Given the description of an element on the screen output the (x, y) to click on. 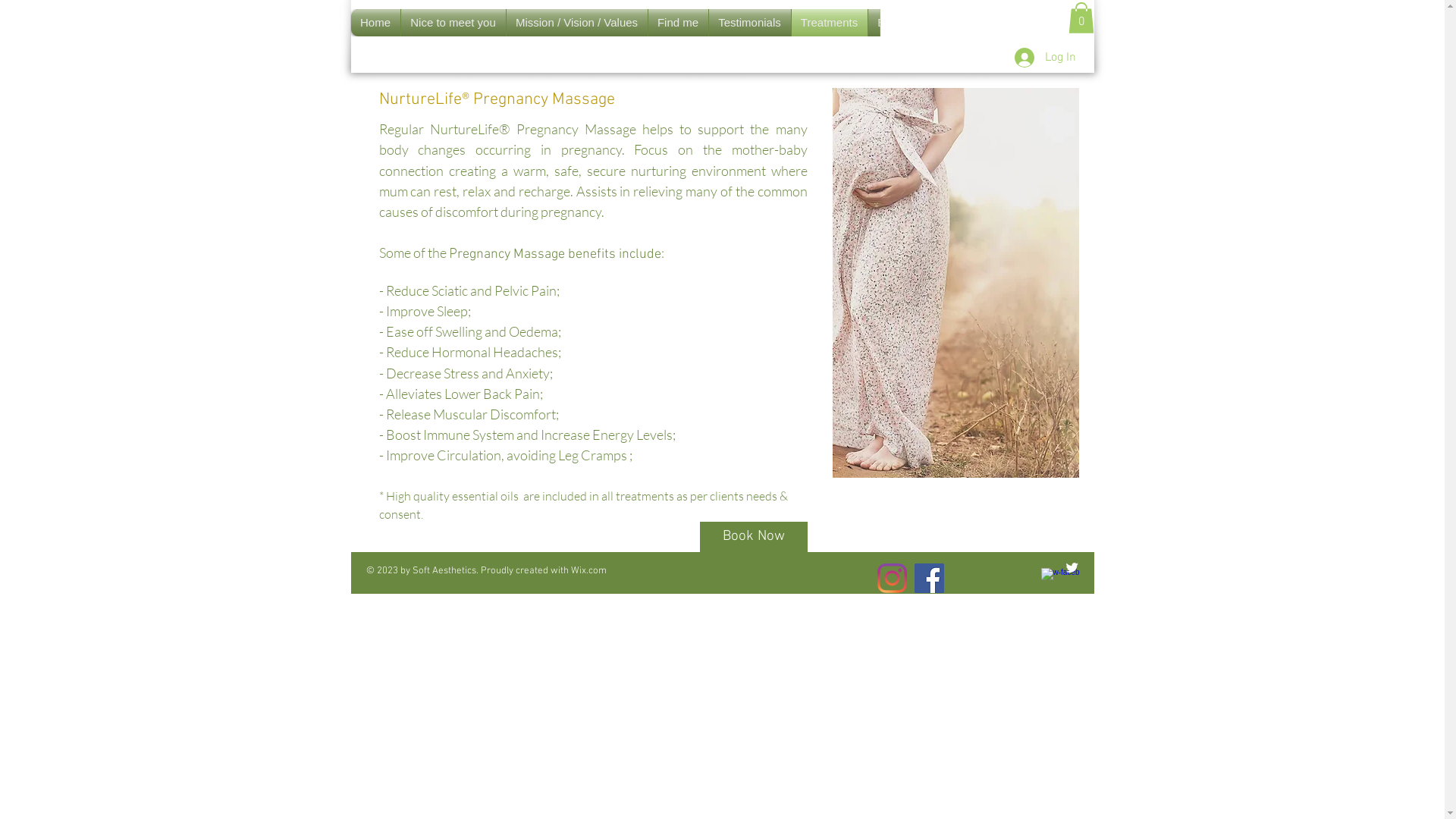
0 Element type: text (1080, 17)
Log In Element type: text (1045, 57)
Book Now Element type: text (752, 536)
Wix.com Element type: text (587, 570)
